Given the description of an element on the screen output the (x, y) to click on. 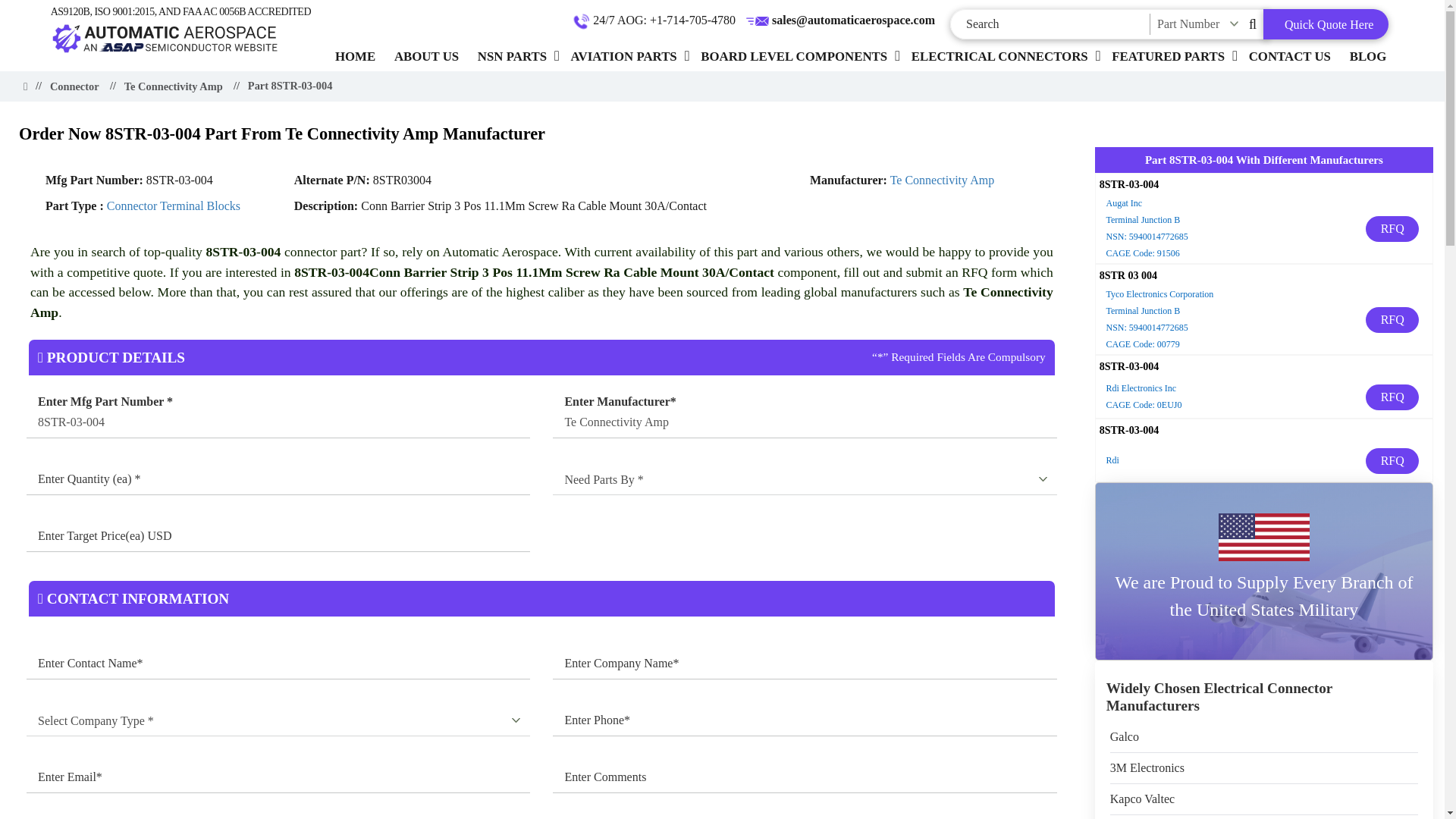
Te Connectivity Amp (805, 422)
BOARD LEVEL COMPONENTS (794, 56)
FEATURED PARTS (1167, 56)
  Quick Quote Here (1326, 24)
AVIATION PARTS (623, 56)
HOME (354, 56)
Galco (1123, 737)
Kapco Valtec (1141, 799)
3M Electronics (1147, 768)
ABOUT US (426, 56)
